Given the description of an element on the screen output the (x, y) to click on. 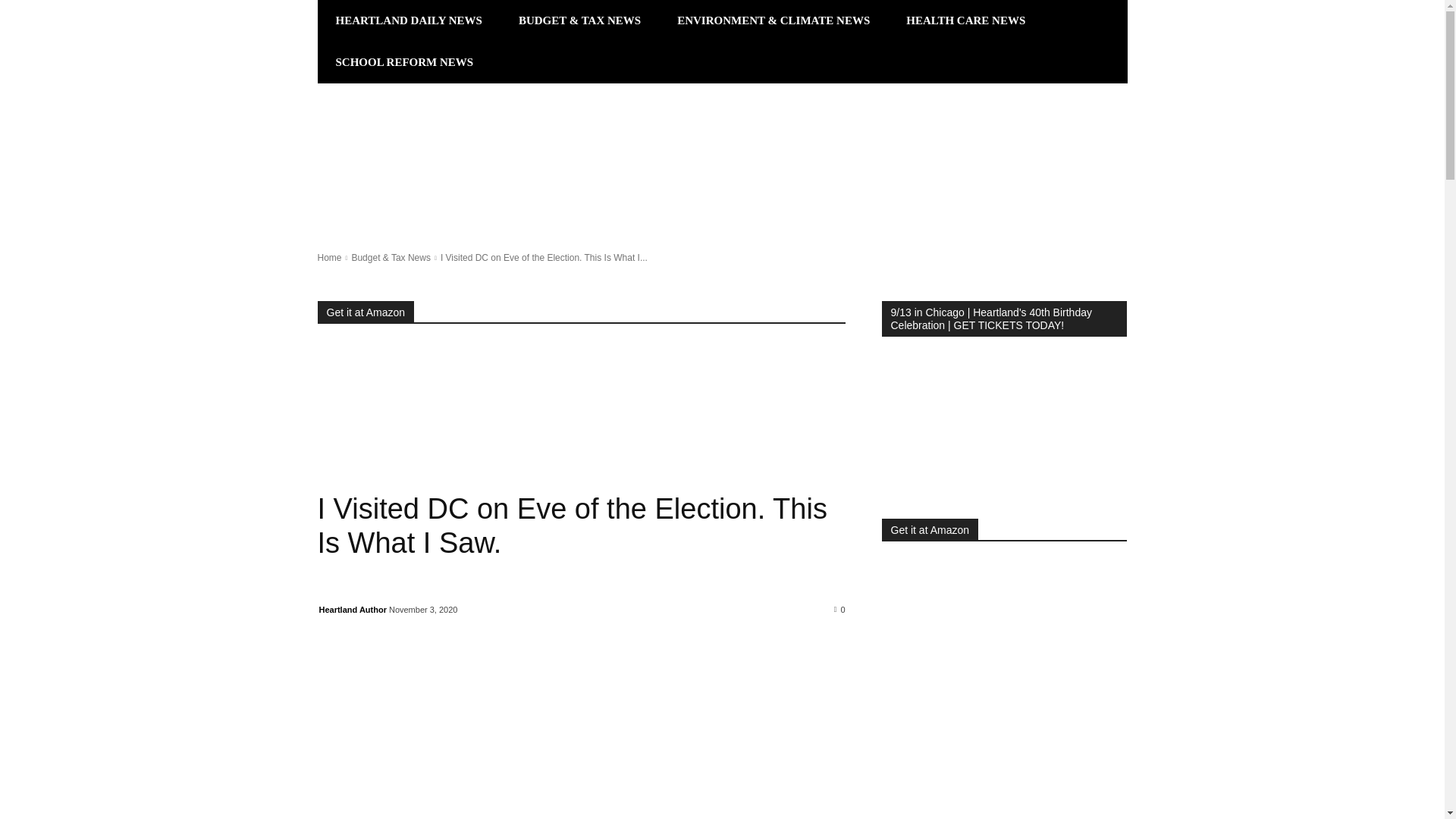
Heartland Author (351, 608)
HEARTLAND DAILY NEWS (408, 20)
Get it at Amazon (365, 311)
SCHOOL REFORM NEWS (404, 62)
Home (328, 257)
0 (839, 608)
HEALTH CARE NEWS (965, 20)
